Given the description of an element on the screen output the (x, y) to click on. 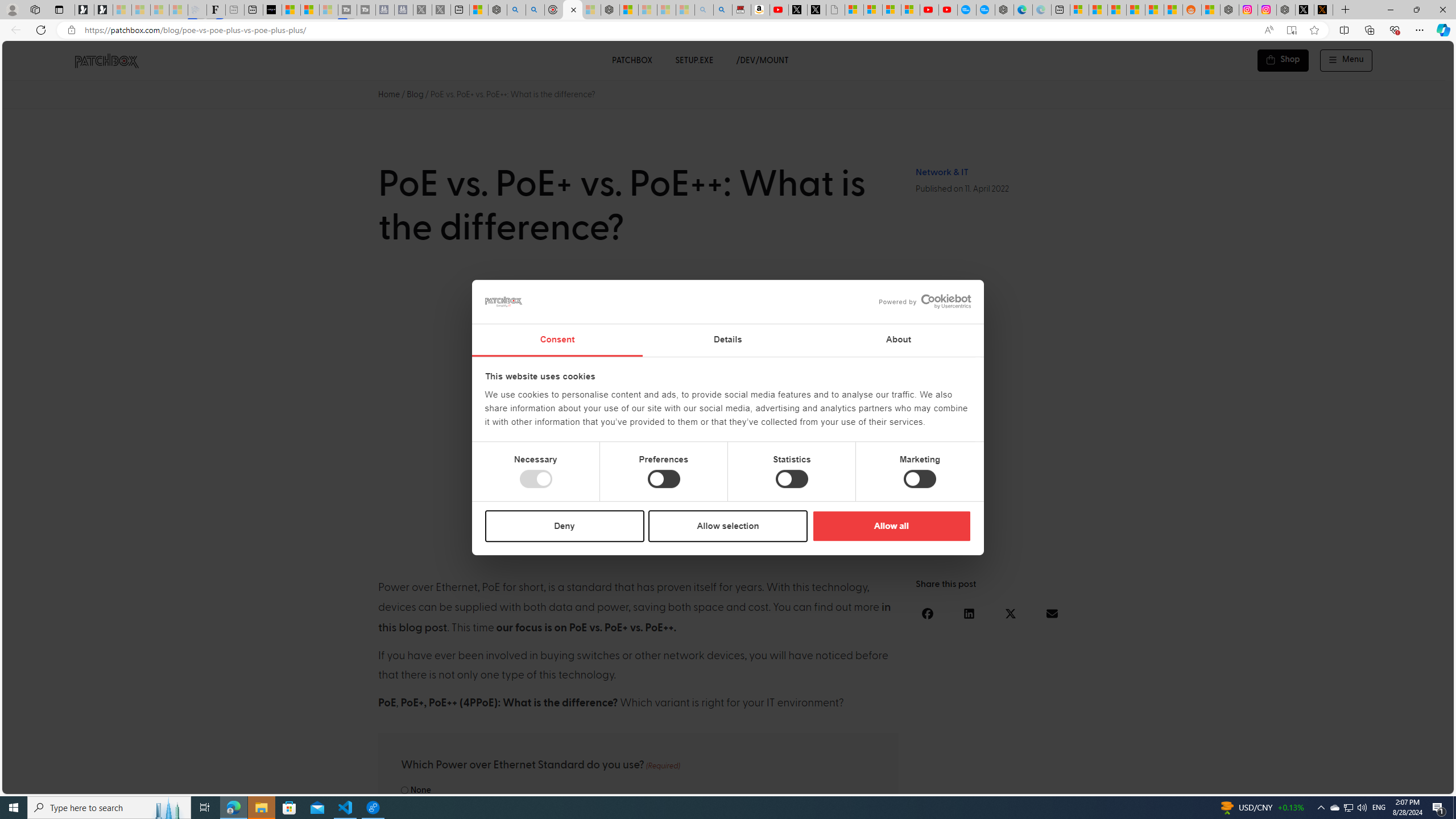
YouTube Kids - An App Created for Kids to Explore Content (947, 9)
Blog (414, 94)
Share on x-twitter (1010, 613)
amazon - Search - Sleeping (703, 9)
SETUP.EXE (694, 60)
Nordace - Nordace Siena Is Not An Ordinary Backpack (609, 9)
